Given the description of an element on the screen output the (x, y) to click on. 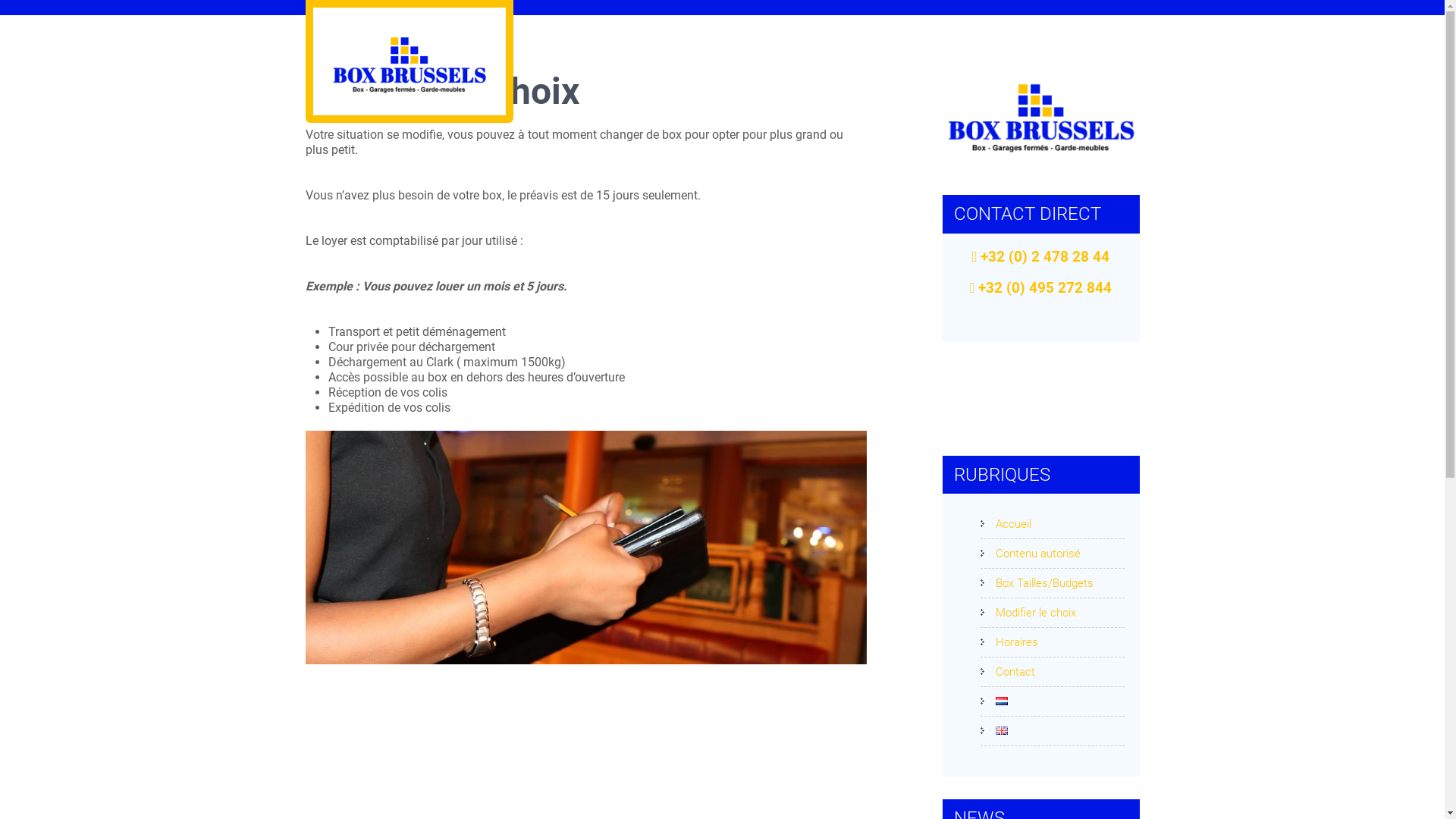
Accueil Element type: text (1004, 523)
Modifier le choix Element type: text (1027, 612)
+32 (0) 495 272 844 Element type: text (1040, 287)
+32 (0) 2 478 28 44 Element type: text (1041, 257)
Nederlands Element type: hover (1000, 700)
Contact Element type: text (1006, 671)
English Element type: hover (1000, 730)
Horaires Element type: text (1008, 641)
Box Tailles/Budgets Element type: text (1035, 582)
